Given the description of an element on the screen output the (x, y) to click on. 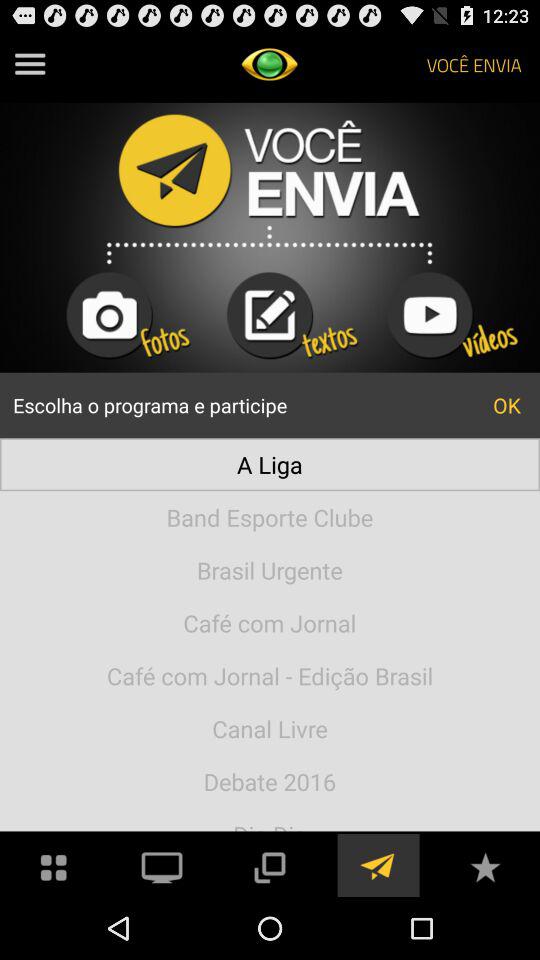
click on the third image icon at the bottom of the page (269, 865)
